Given the description of an element on the screen output the (x, y) to click on. 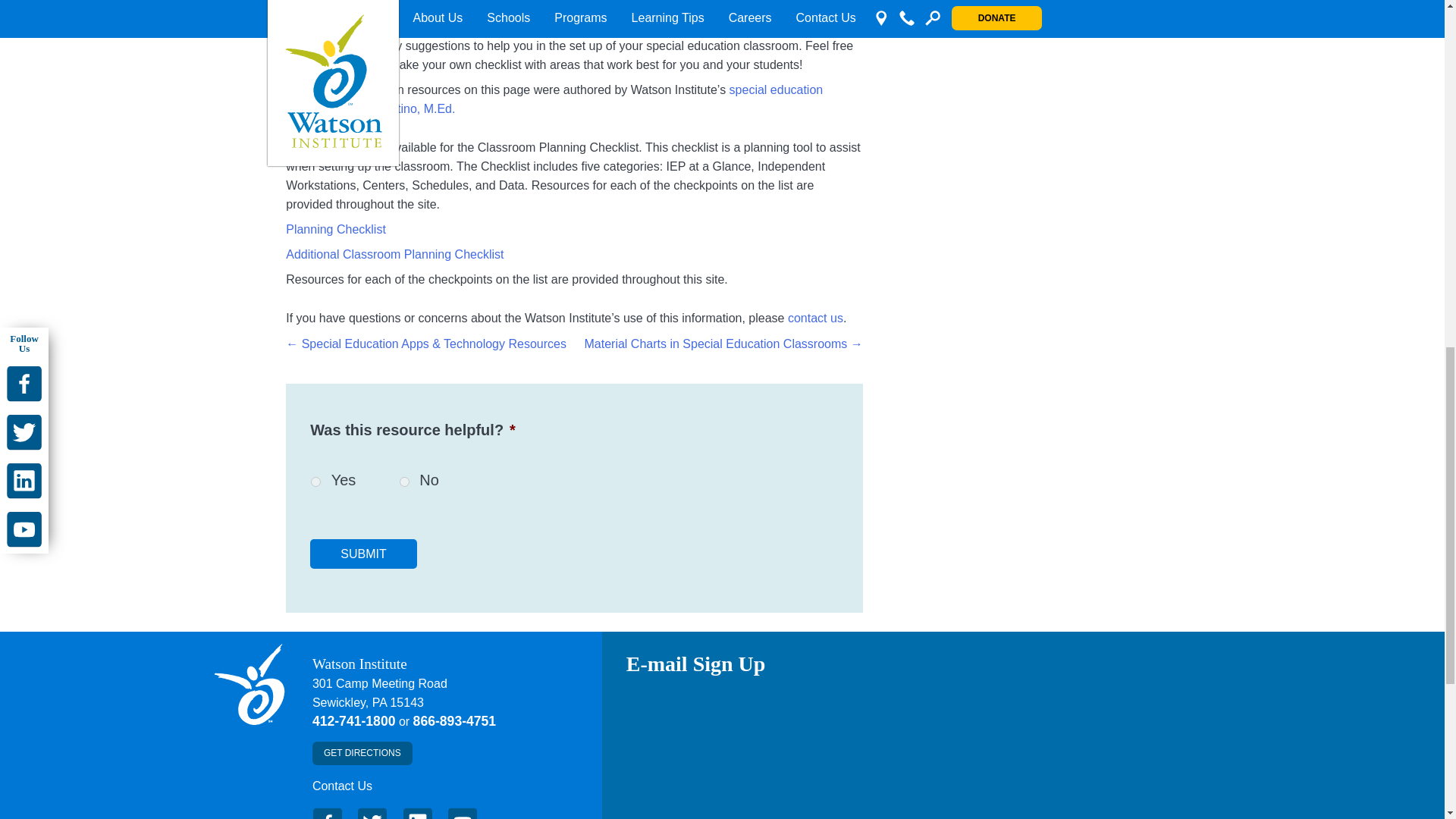
No (403, 481)
Yes (315, 481)
Submit (363, 553)
Contact Form (342, 785)
